Given the description of an element on the screen output the (x, y) to click on. 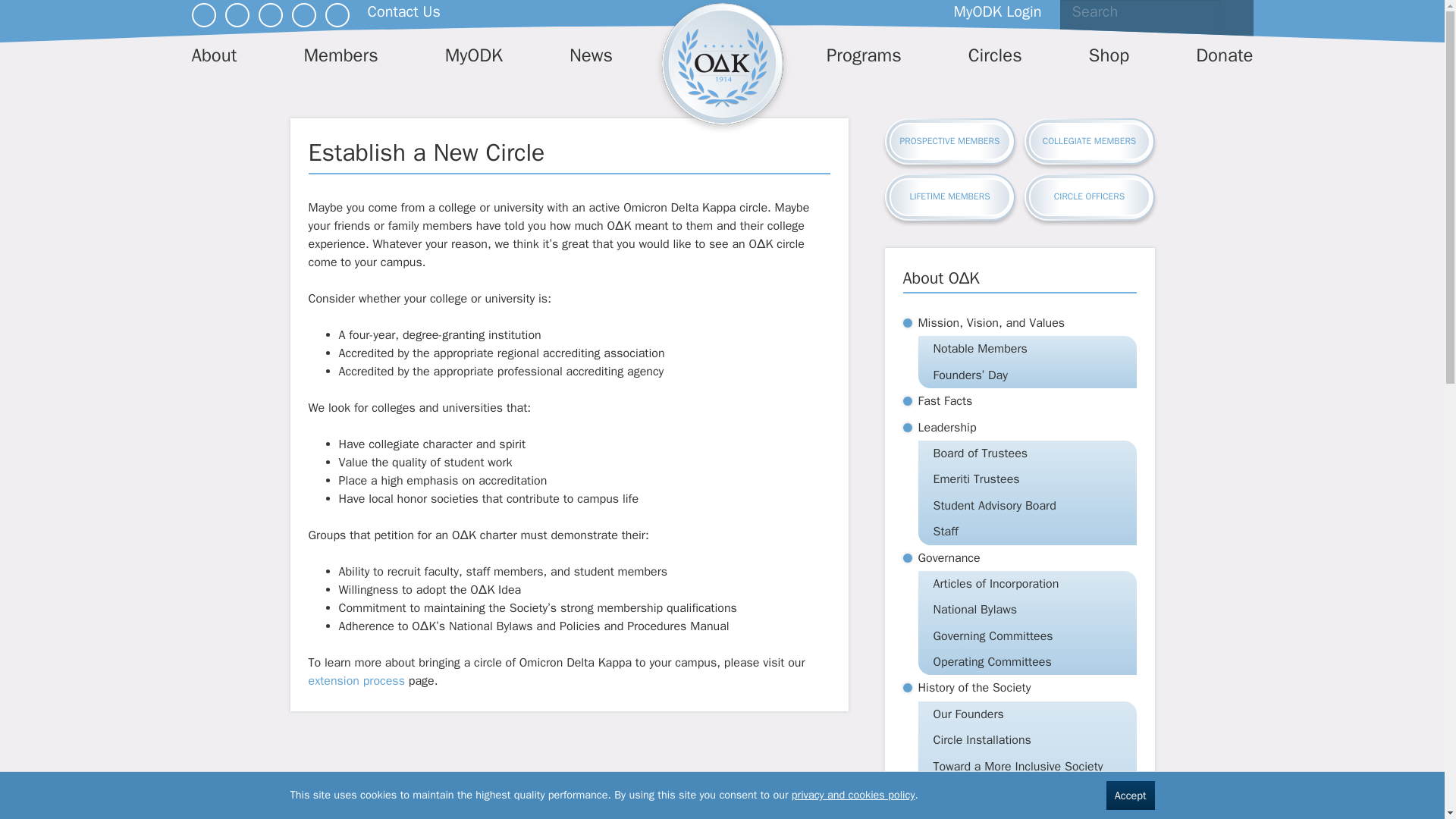
Omicron Delta Kappa (722, 63)
Members (339, 58)
Merit (336, 15)
Facebook (202, 15)
YouTube (303, 15)
LinkedIn (236, 15)
About (212, 58)
Contact Us (402, 11)
Instagram (269, 15)
MyODK Login (997, 11)
